Given the description of an element on the screen output the (x, y) to click on. 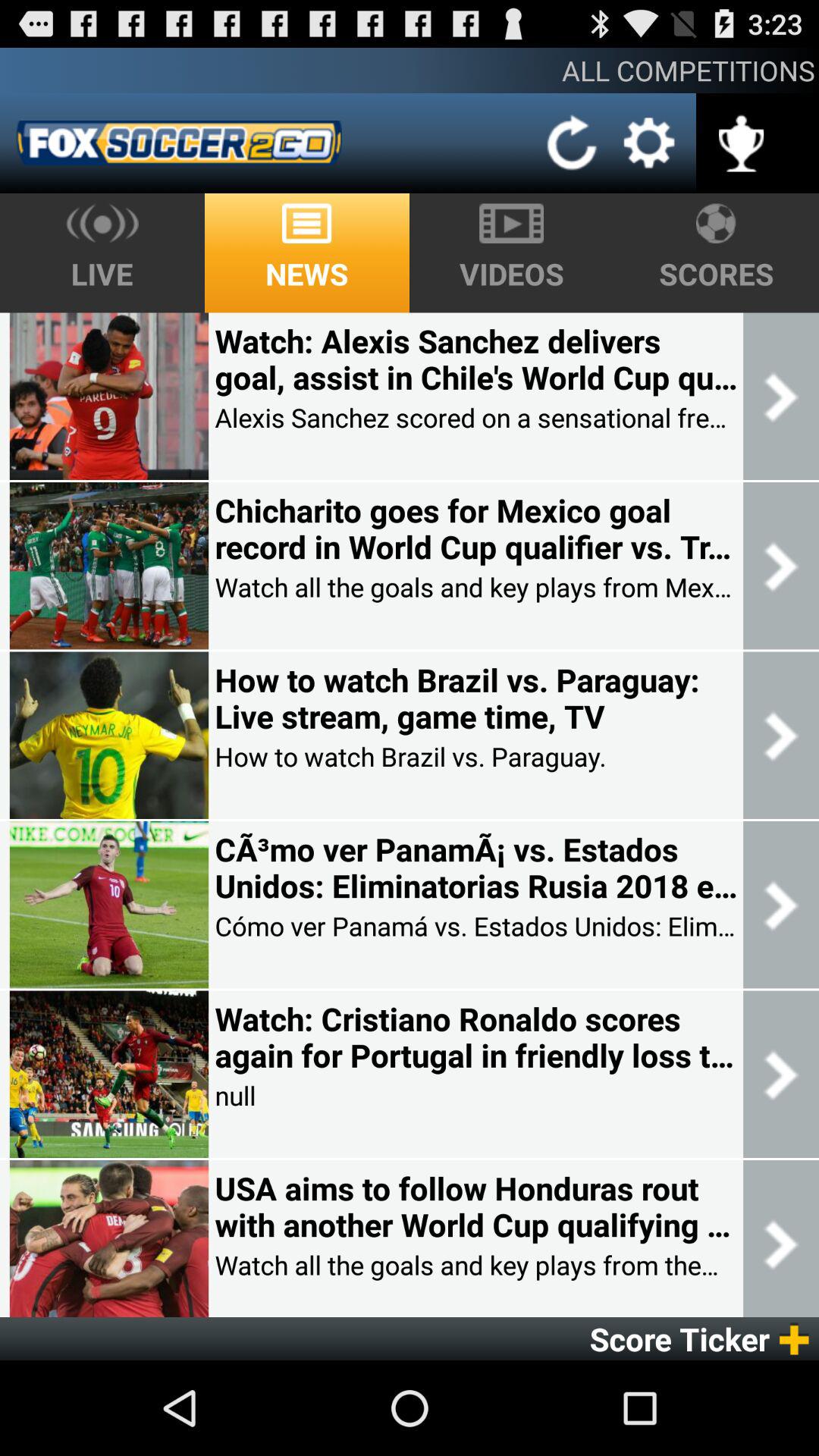
choose null app (234, 1095)
